Given the description of an element on the screen output the (x, y) to click on. 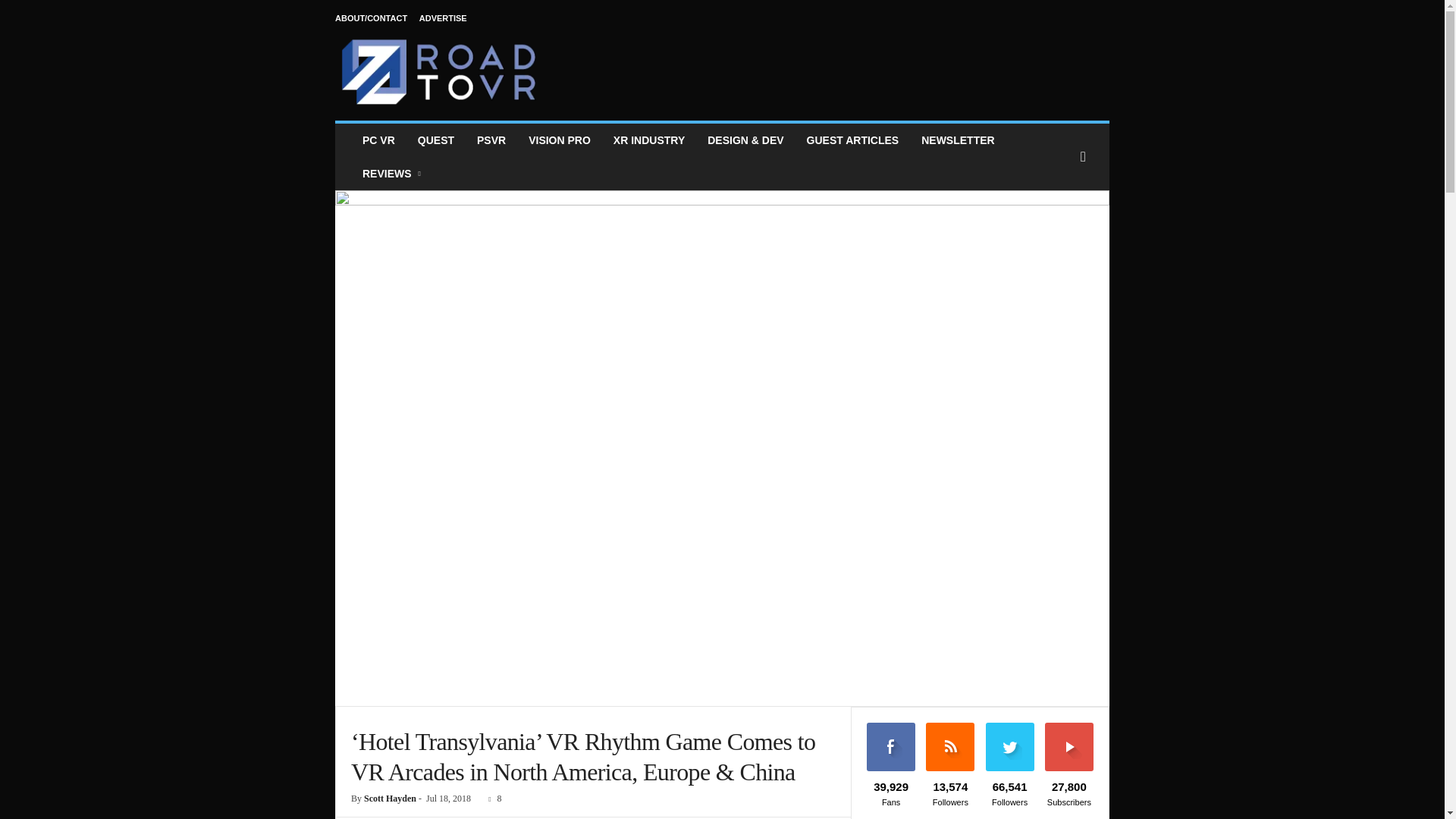
REVIEWS (392, 173)
8 (490, 798)
GUEST ARTICLES (852, 140)
Road to VR (437, 70)
PC VR (378, 140)
3rd party ad content (833, 61)
XR INDUSTRY (648, 140)
NEWSLETTER (958, 140)
AR VR MR XR News (648, 140)
3rd party ad content (721, 671)
PSVR (490, 140)
Scott Hayden (390, 798)
VISION PRO (559, 140)
ADVERTISE (443, 17)
